Given the description of an element on the screen output the (x, y) to click on. 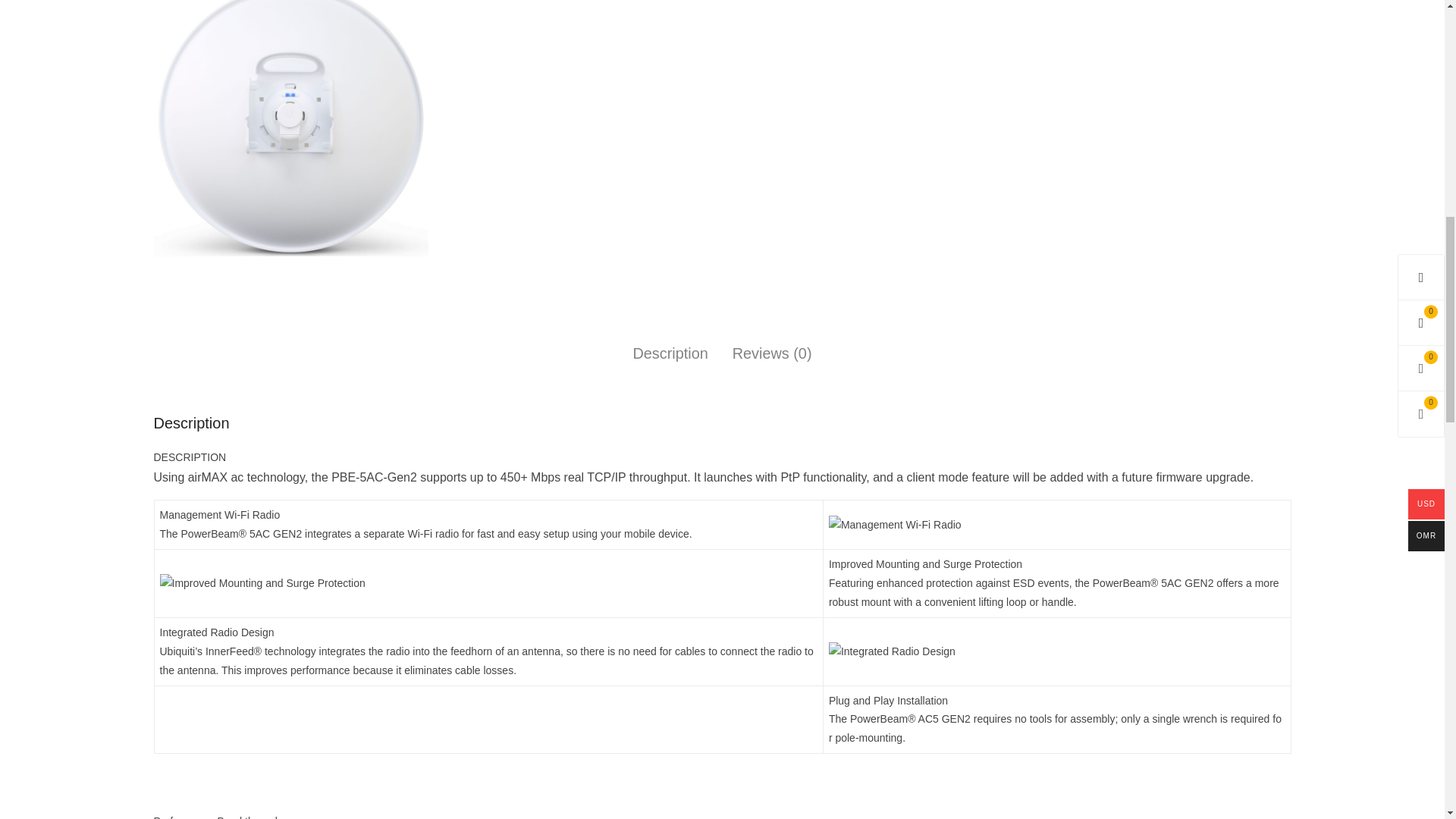
Description (669, 353)
